Given the description of an element on the screen output the (x, y) to click on. 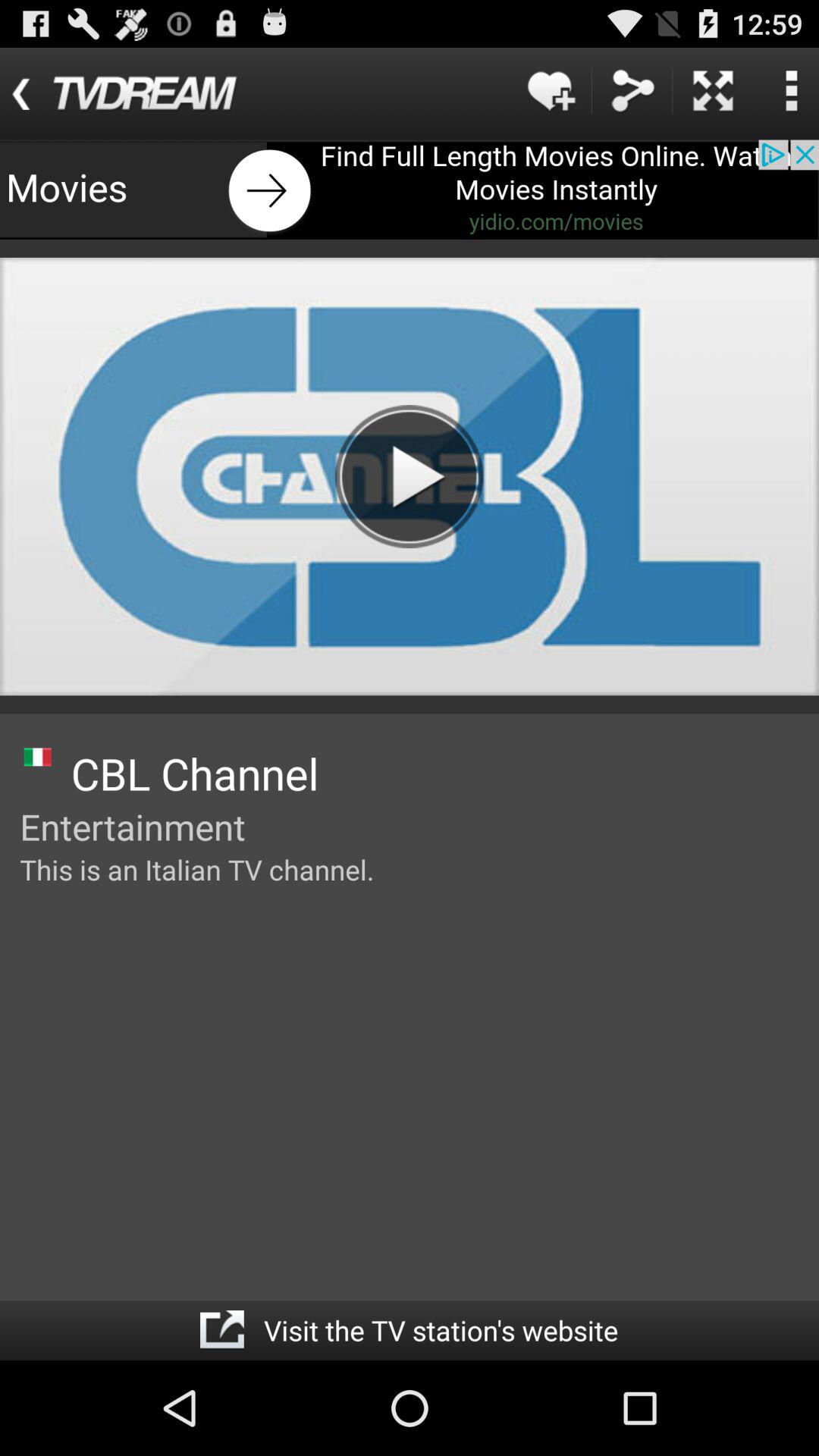
go to advertisement (409, 189)
